Given the description of an element on the screen output the (x, y) to click on. 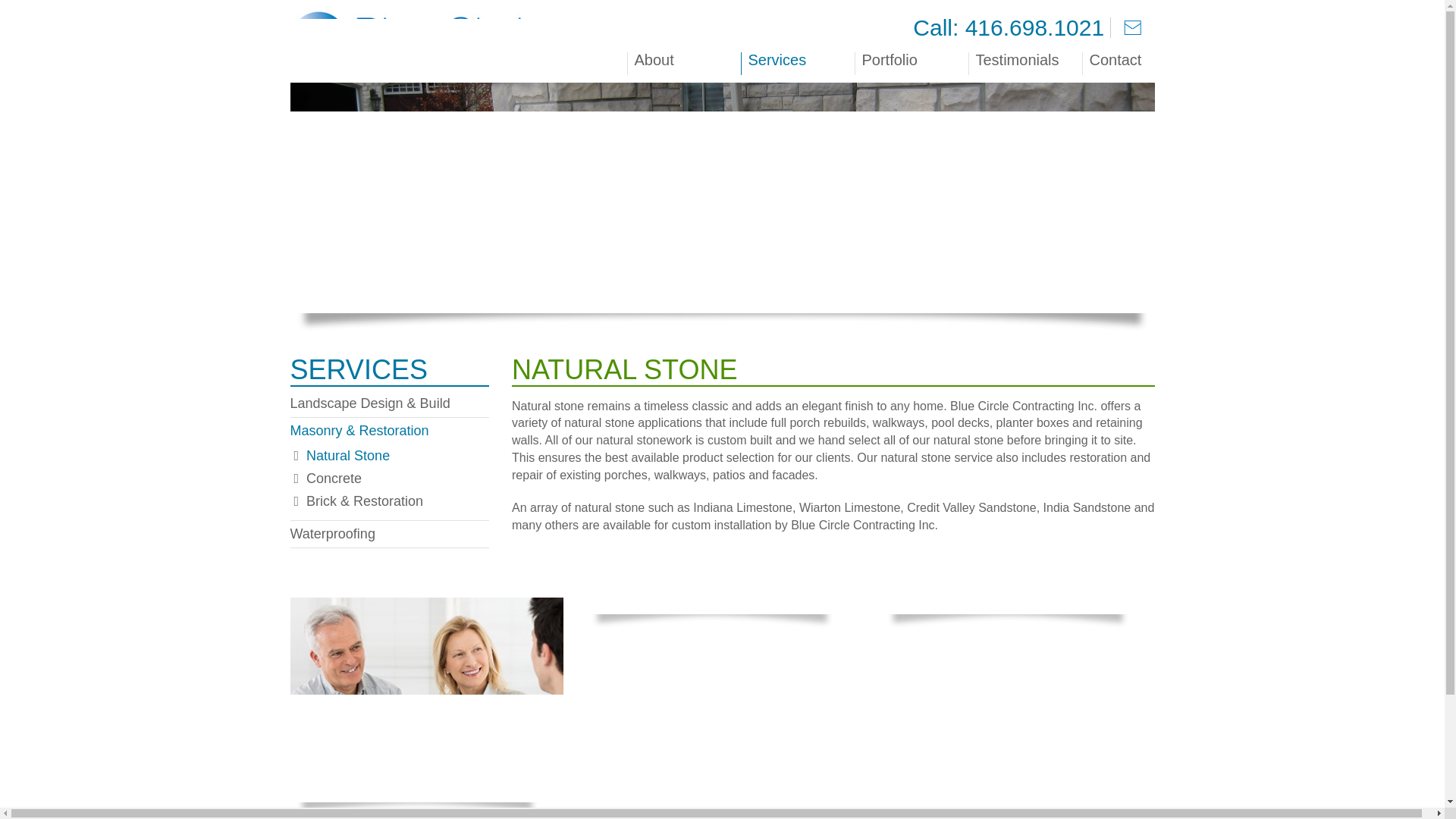
Services (799, 59)
Concrete (333, 478)
Contact (1118, 59)
About (686, 59)
Waterproofing (331, 533)
Portfolio (913, 59)
Natural Stone (347, 455)
Testimonials (1026, 59)
